Given the description of an element on the screen output the (x, y) to click on. 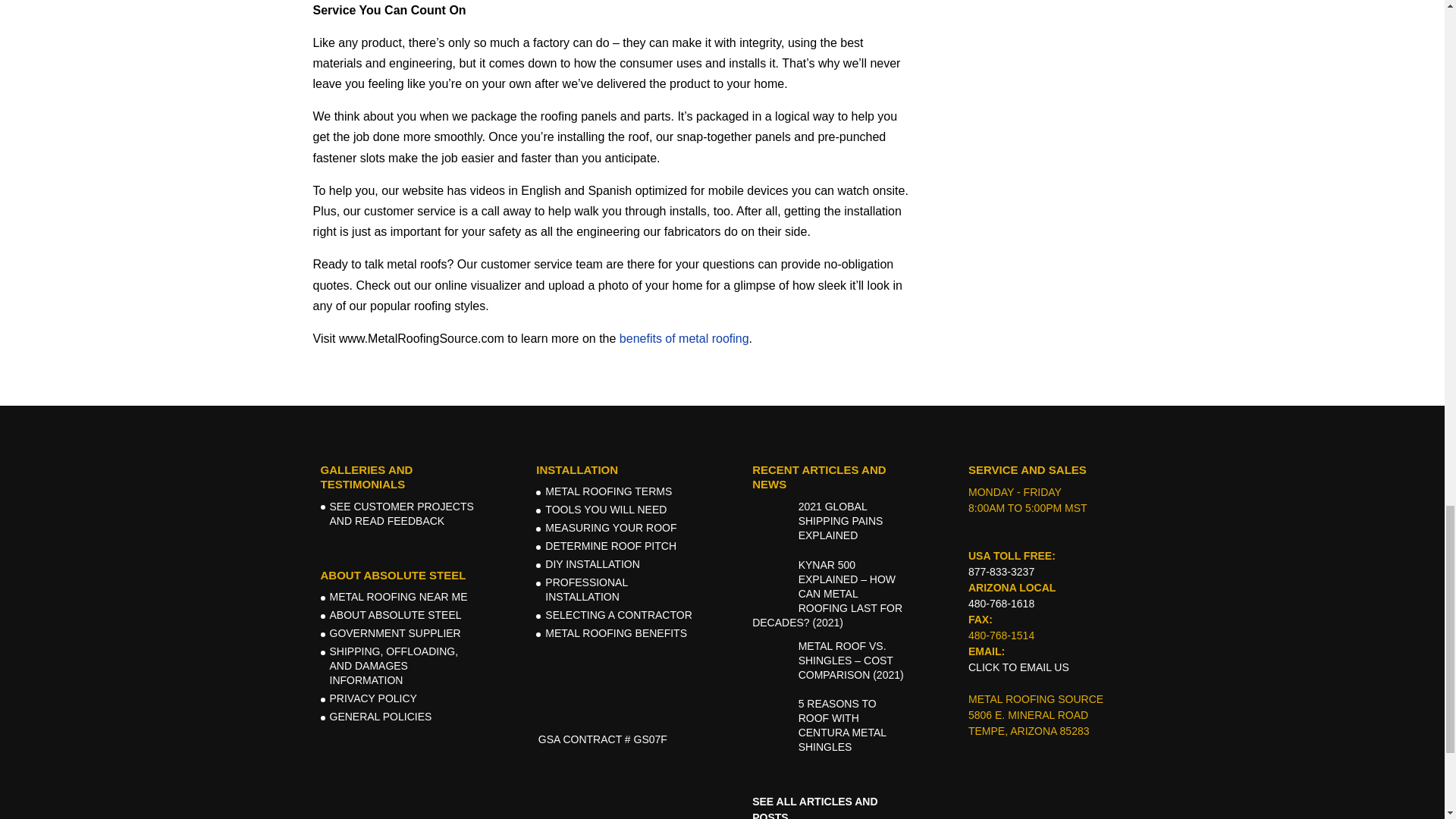
METAL ROOFING TERMS (607, 491)
TOOLS YOU WILL NEED (605, 509)
SEE CUSTOMER PROJECTS AND READ FEEDBACK (401, 513)
GOVERNMENT SUPPLIER (394, 633)
SHIPPING, OFFLOADING, AND DAMAGES INFORMATION (393, 665)
benefits of metal roofing (684, 338)
ABOUT ABSOLUTE STEEL (395, 614)
MEASURING YOUR ROOF (610, 527)
DETERMINE ROOF PITCH (610, 545)
SELECTING A CONTRACTOR (617, 614)
DIY INSTALLATION (591, 563)
METAL ROOFING BENEFITS (615, 633)
PROFESSIONAL INSTALLATION (585, 589)
GENERAL POLICIES (379, 716)
METAL ROOFING NEAR ME (398, 596)
